Given the description of an element on the screen output the (x, y) to click on. 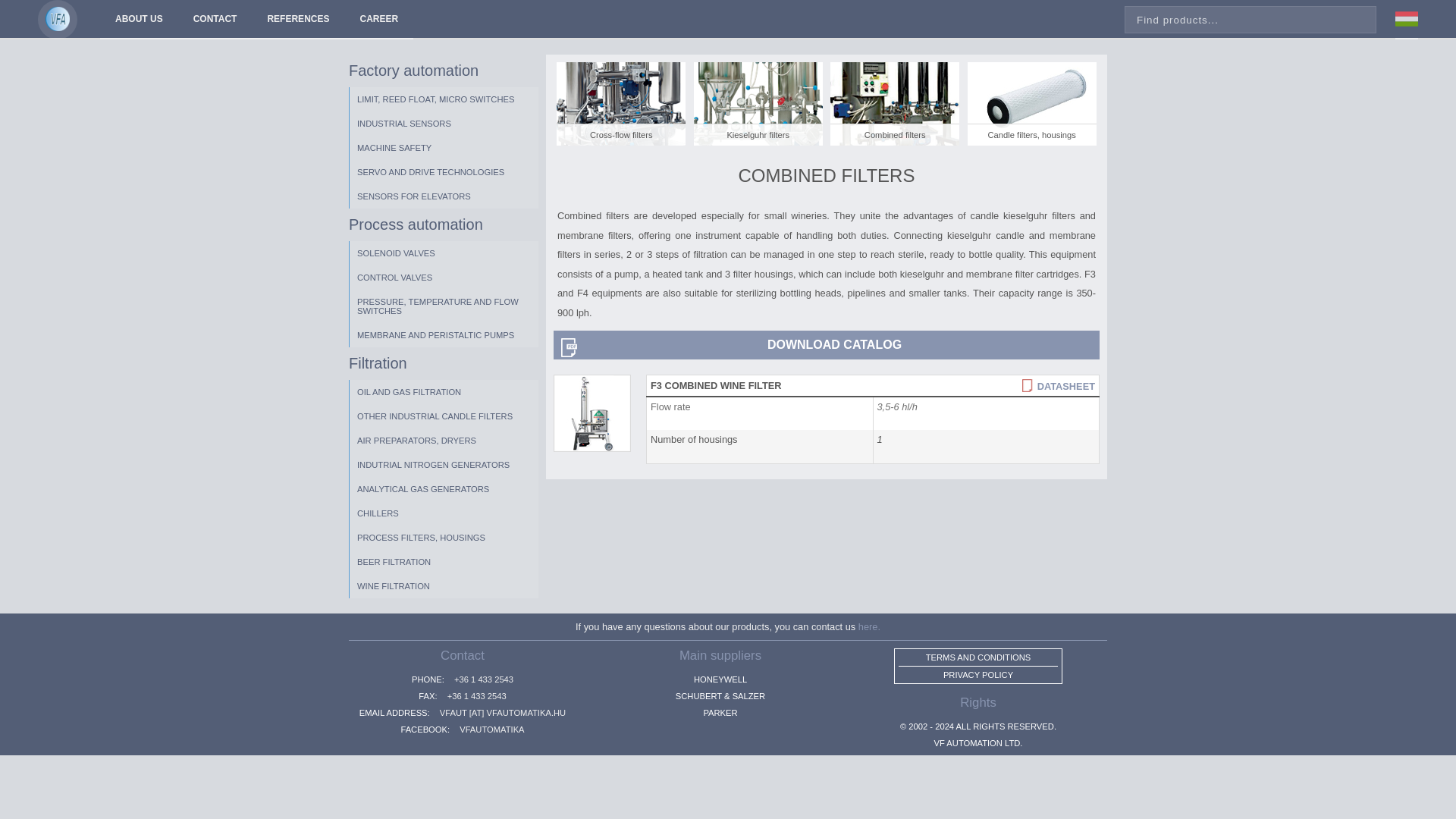
Analytical gas generators (443, 488)
Sensors for elevators (443, 196)
Chillers (443, 513)
Oil and Gas Filtration (443, 392)
SERVO AND DRIVE TECHNOLOGIES (443, 171)
CONTACT (214, 19)
SOLENOID VALVES (443, 252)
PROCESS FILTERS, HOUSINGS (443, 537)
Air preparators, dryers (443, 440)
Membrane and peristaltic pumps (443, 334)
Cross-flow filters (620, 103)
DOWNLOAD CATALOG (826, 344)
Combined filters (894, 103)
WINE FILTRATION (443, 586)
OIL AND GAS FILTRATION (443, 392)
